Given the description of an element on the screen output the (x, y) to click on. 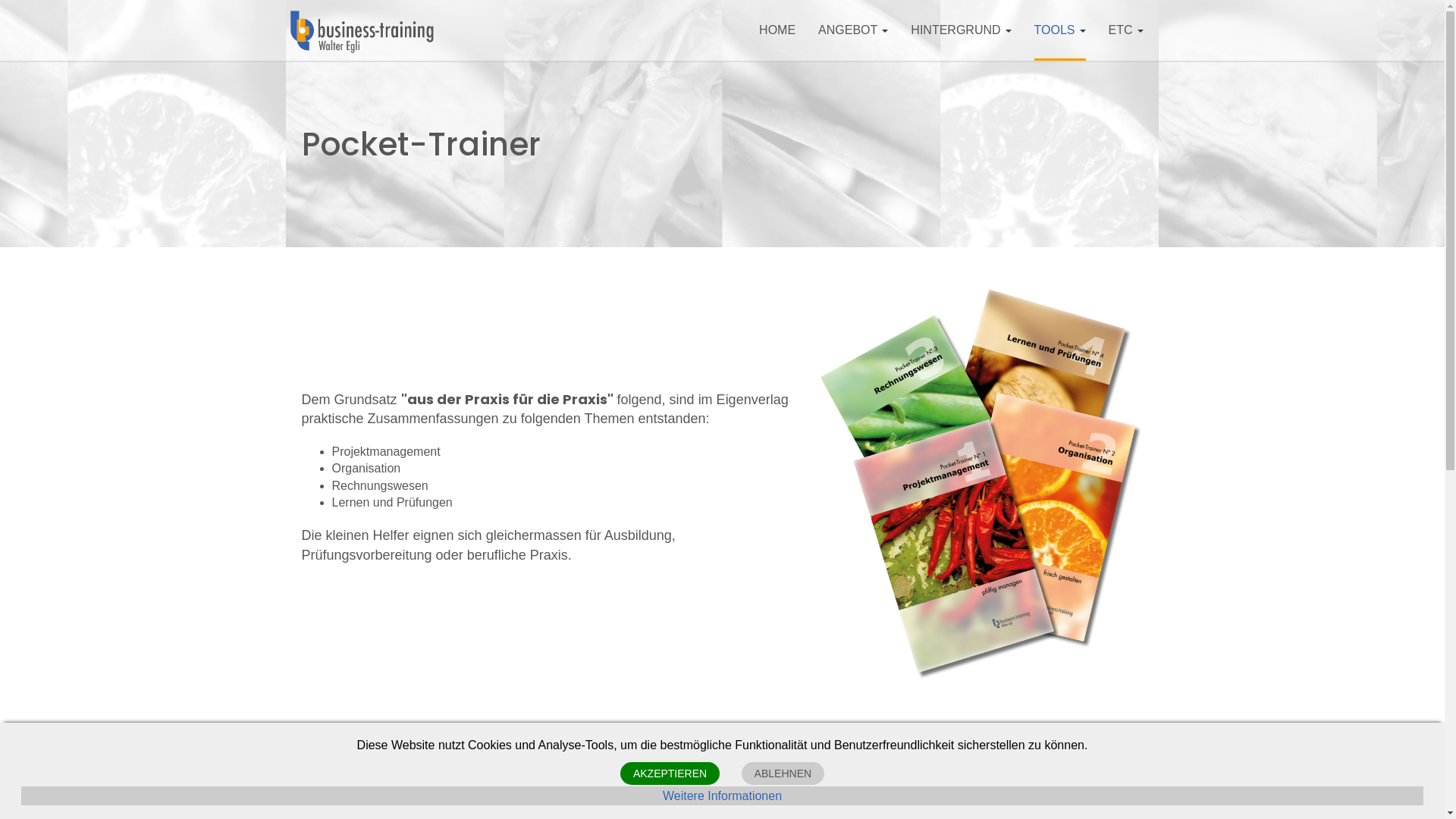
ABLEHNEN Element type: text (782, 773)
AKZEPTIEREN Element type: text (669, 773)
HOME Element type: text (776, 30)
TOOLS Element type: text (1059, 30)
ETC Element type: text (1125, 30)
Business Training Element type: hover (361, 31)
Weitere Informationen Element type: text (721, 795)
ANGEBOT Element type: text (852, 30)
HINTERGRUND Element type: text (960, 30)
